Given the description of an element on the screen output the (x, y) to click on. 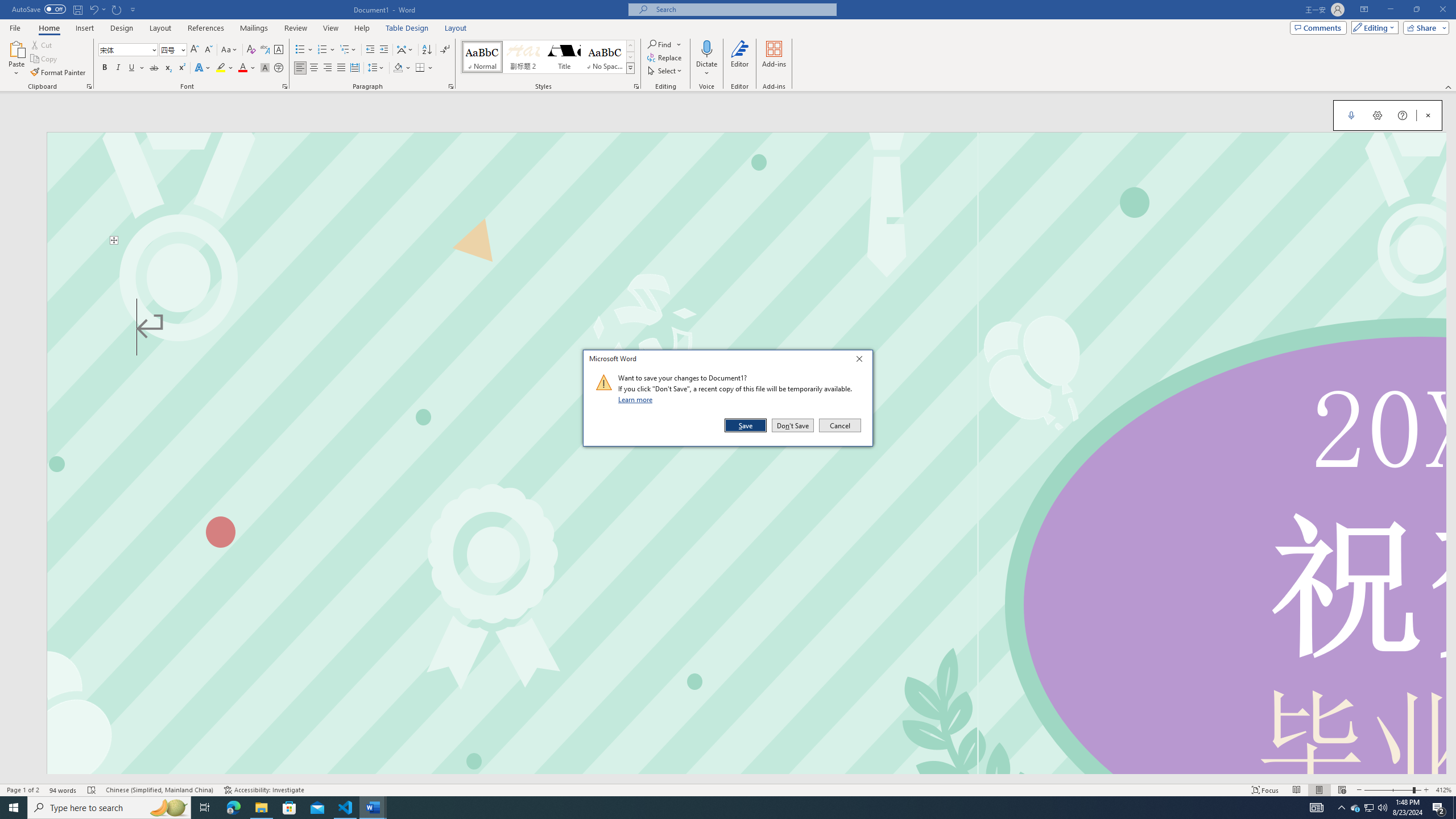
Learn more (636, 399)
Spelling and Grammar Check Errors (91, 790)
Notification Chevron (1341, 807)
File Explorer - 1 running window (261, 807)
